Given the description of an element on the screen output the (x, y) to click on. 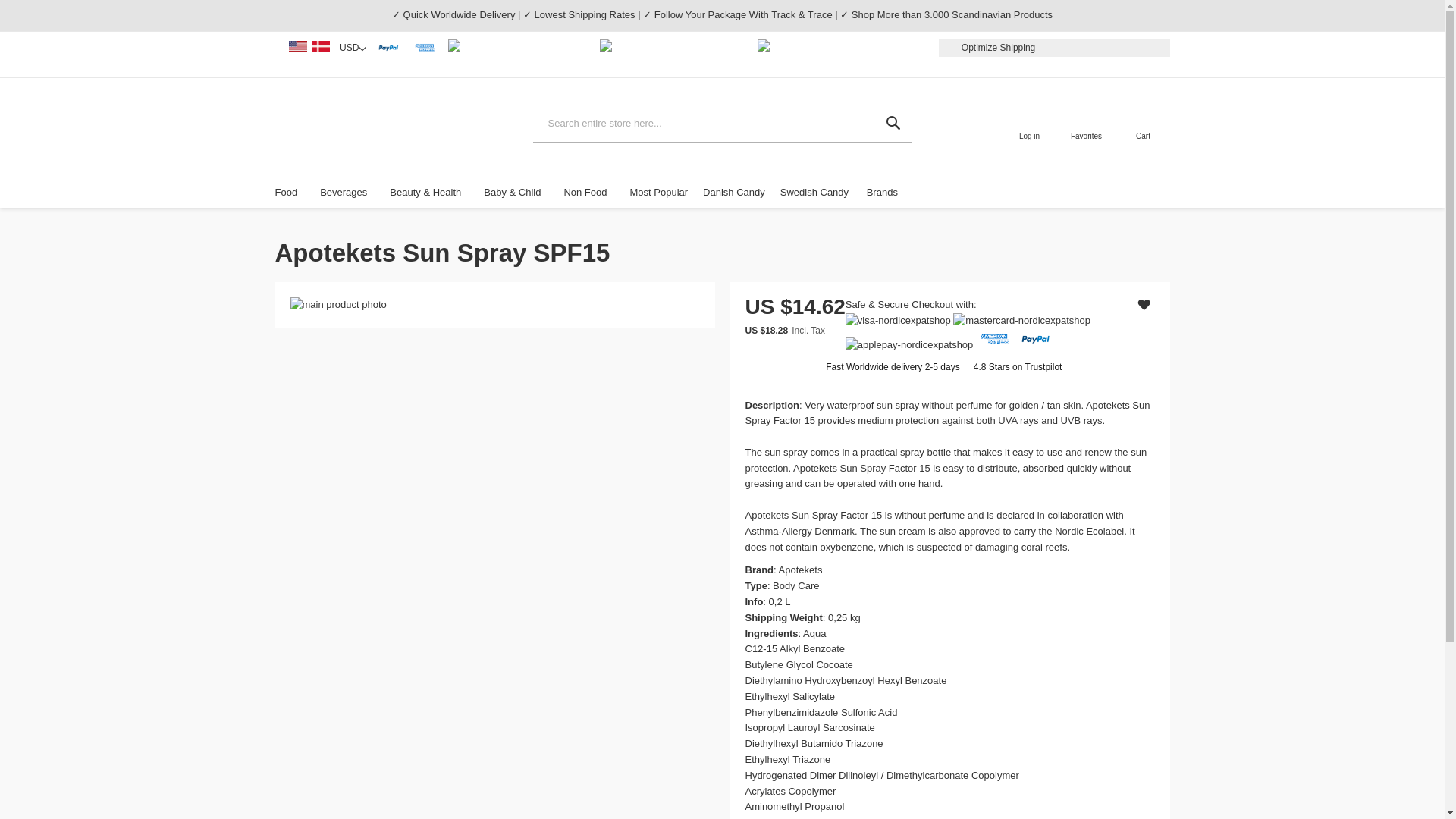
Log in (1029, 127)
My Cart (1143, 119)
Favorites (1086, 127)
Brands (885, 192)
Food (289, 192)
